Given the description of an element on the screen output the (x, y) to click on. 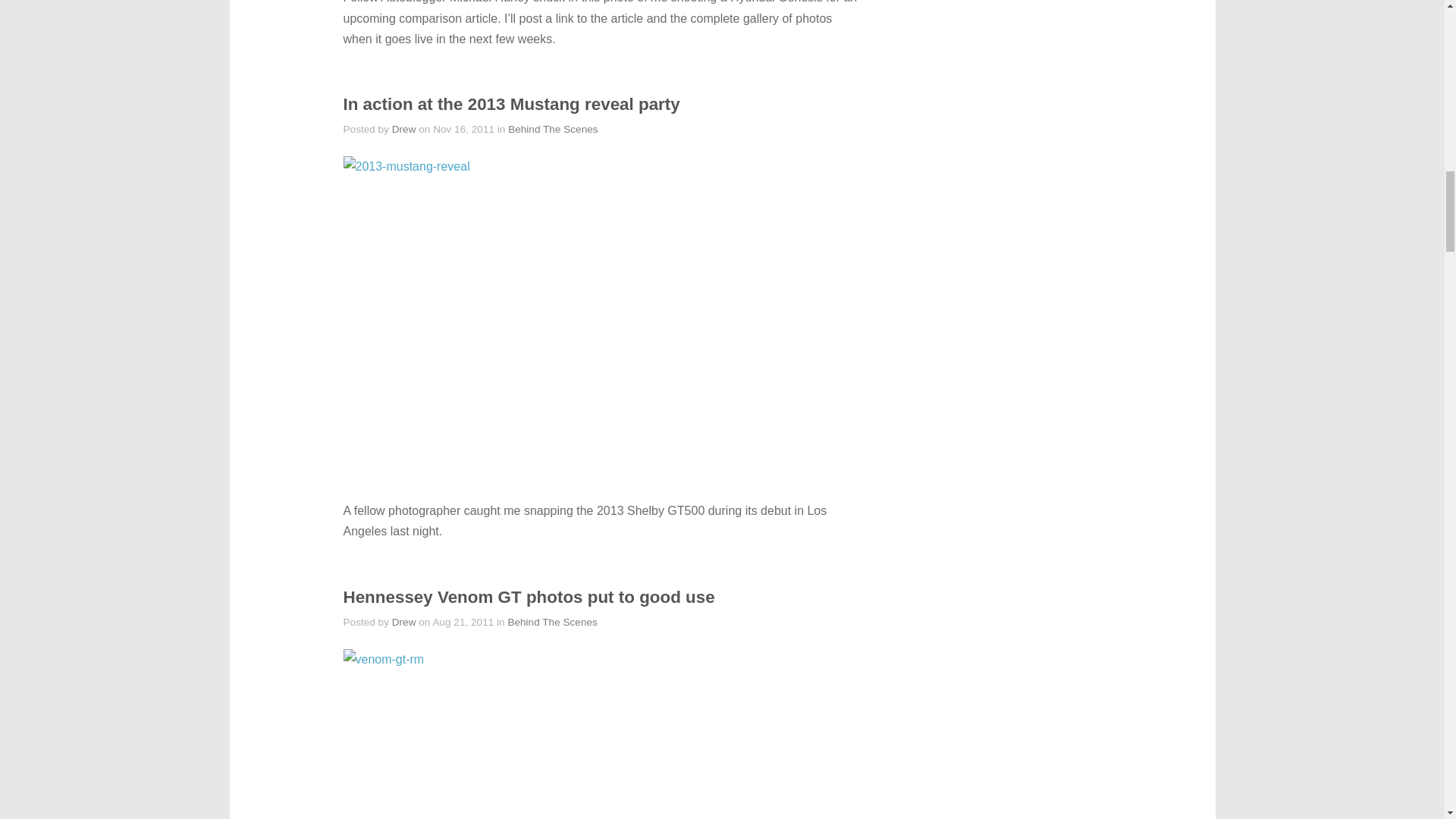
In action at the 2013 Mustang reveal party (510, 104)
Drew (403, 129)
Behind The Scenes (551, 622)
Behind The Scenes (552, 129)
Hennessey Venom GT photos put to good use (528, 597)
Posts by Drew (403, 622)
Posts by Drew (403, 129)
Drew (403, 622)
